Given the description of an element on the screen output the (x, y) to click on. 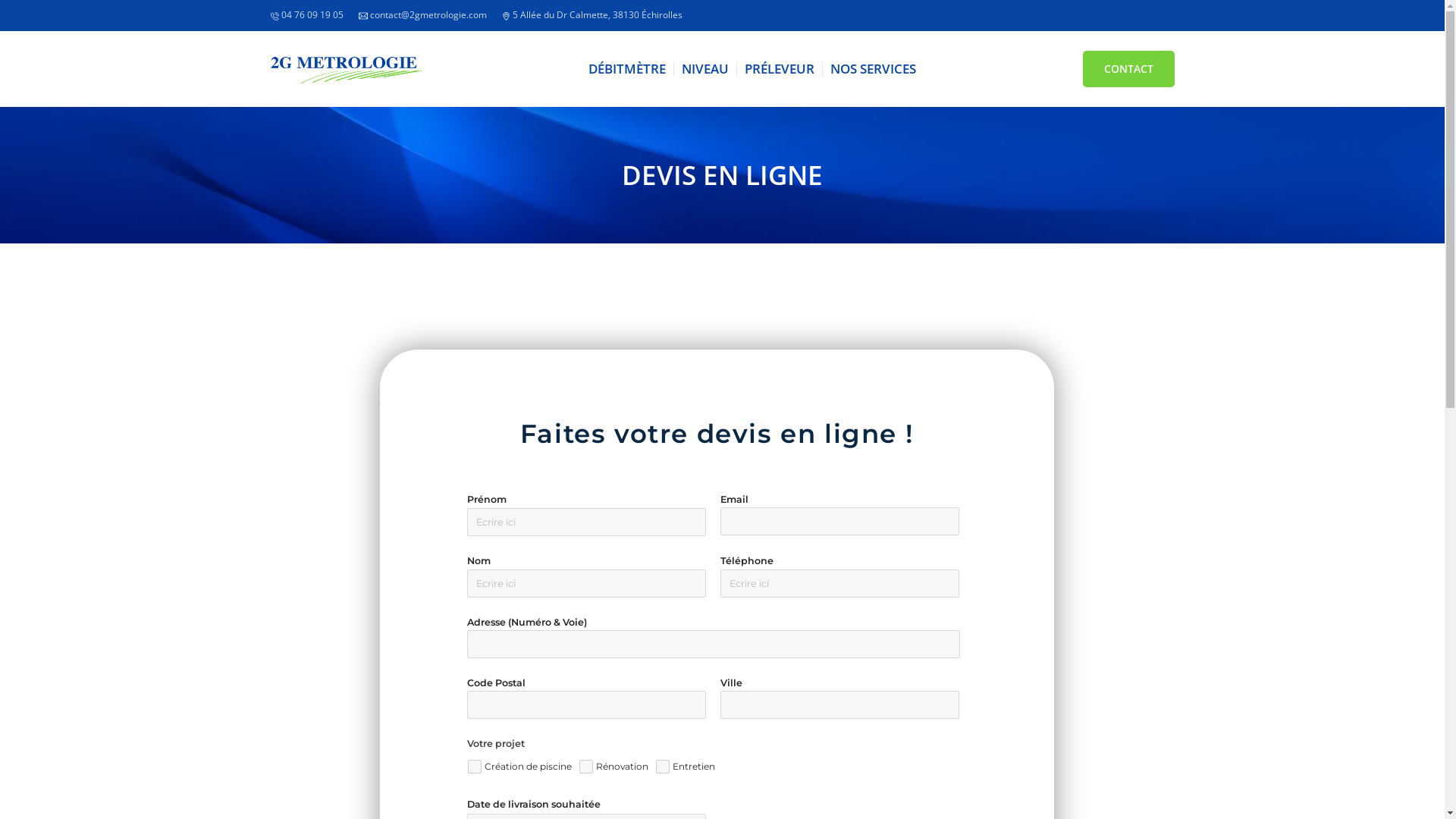
NIVEAU Element type: text (704, 68)
NOS SERVICES Element type: text (873, 68)
CONTACT Element type: text (1128, 68)
